Given the description of an element on the screen output the (x, y) to click on. 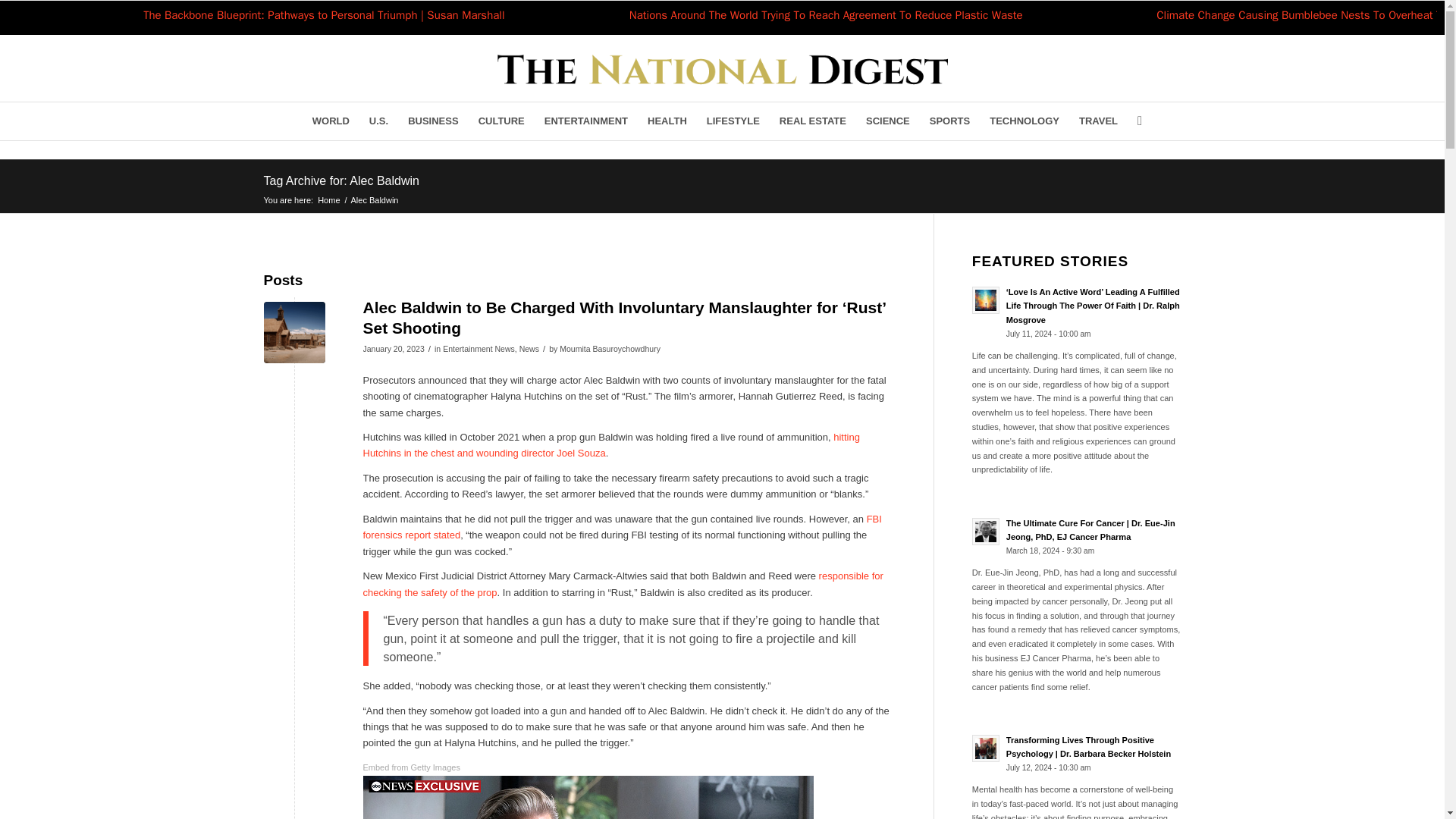
The National Digest (328, 199)
Permanent Link: Tag Archive for: Alec Baldwin (341, 180)
REAL ESTATE (813, 121)
U.S. (378, 121)
TECHNOLOGY (1023, 121)
WORLD (330, 121)
FBI forensics report stated (621, 526)
responsible for checking the safety of the prop (622, 583)
rust (293, 332)
Posts by Moumita Basuroychowdhury (610, 347)
ENTERTAINMENT (585, 121)
Home (328, 199)
Moumita Basuroychowdhury (610, 347)
